Given the description of an element on the screen output the (x, y) to click on. 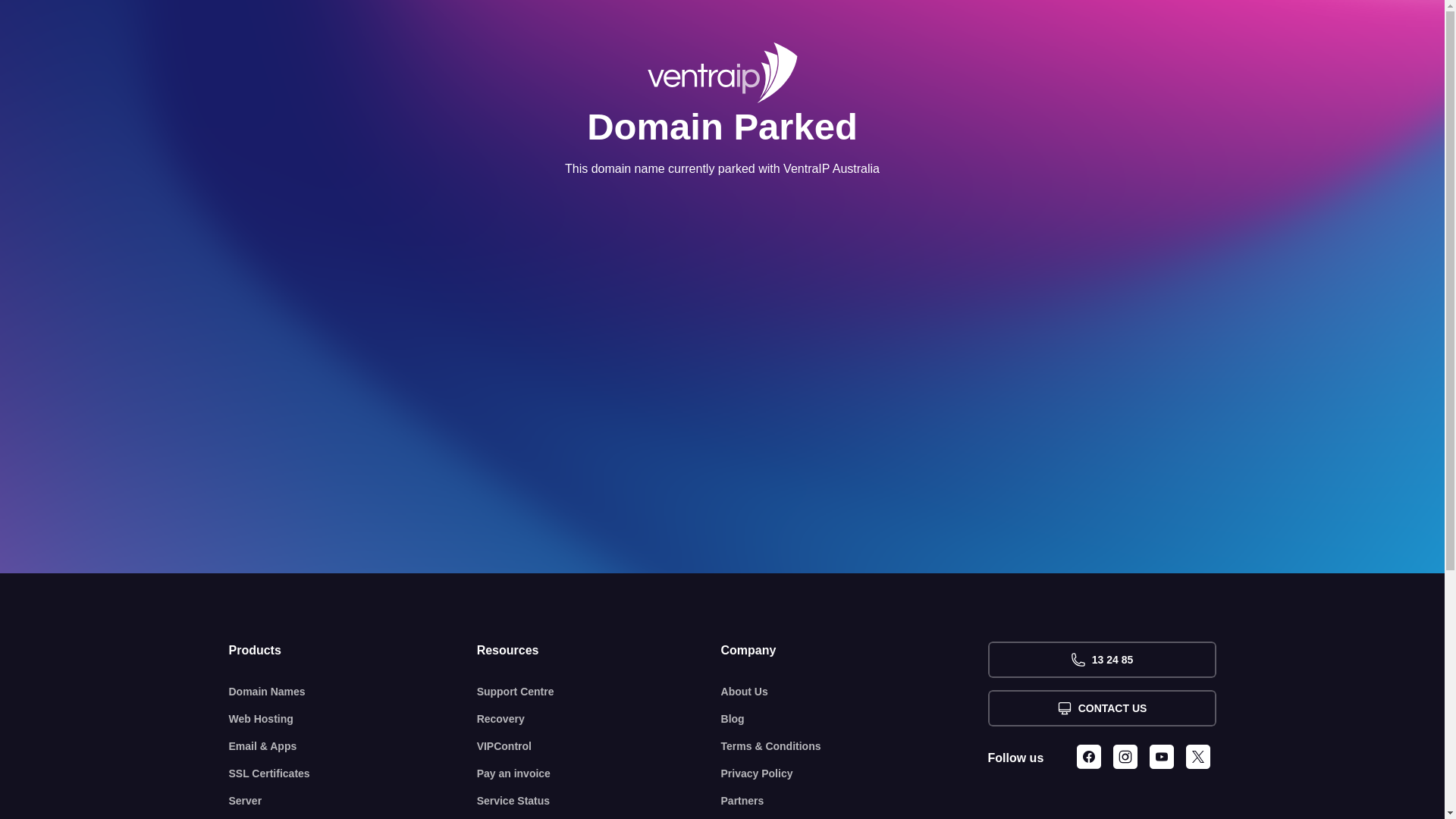
Terms & Conditions Element type: text (854, 745)
Email & Apps Element type: text (352, 745)
About Us Element type: text (854, 691)
Privacy Policy Element type: text (854, 773)
VIPControl Element type: text (598, 745)
Pay an invoice Element type: text (598, 773)
SSL Certificates Element type: text (352, 773)
13 24 85 Element type: text (1101, 659)
Web Hosting Element type: text (352, 718)
Server Element type: text (352, 800)
Support Centre Element type: text (598, 691)
Service Status Element type: text (598, 800)
Domain Names Element type: text (352, 691)
Recovery Element type: text (598, 718)
Blog Element type: text (854, 718)
Partners Element type: text (854, 800)
CONTACT US Element type: text (1101, 708)
